Given the description of an element on the screen output the (x, y) to click on. 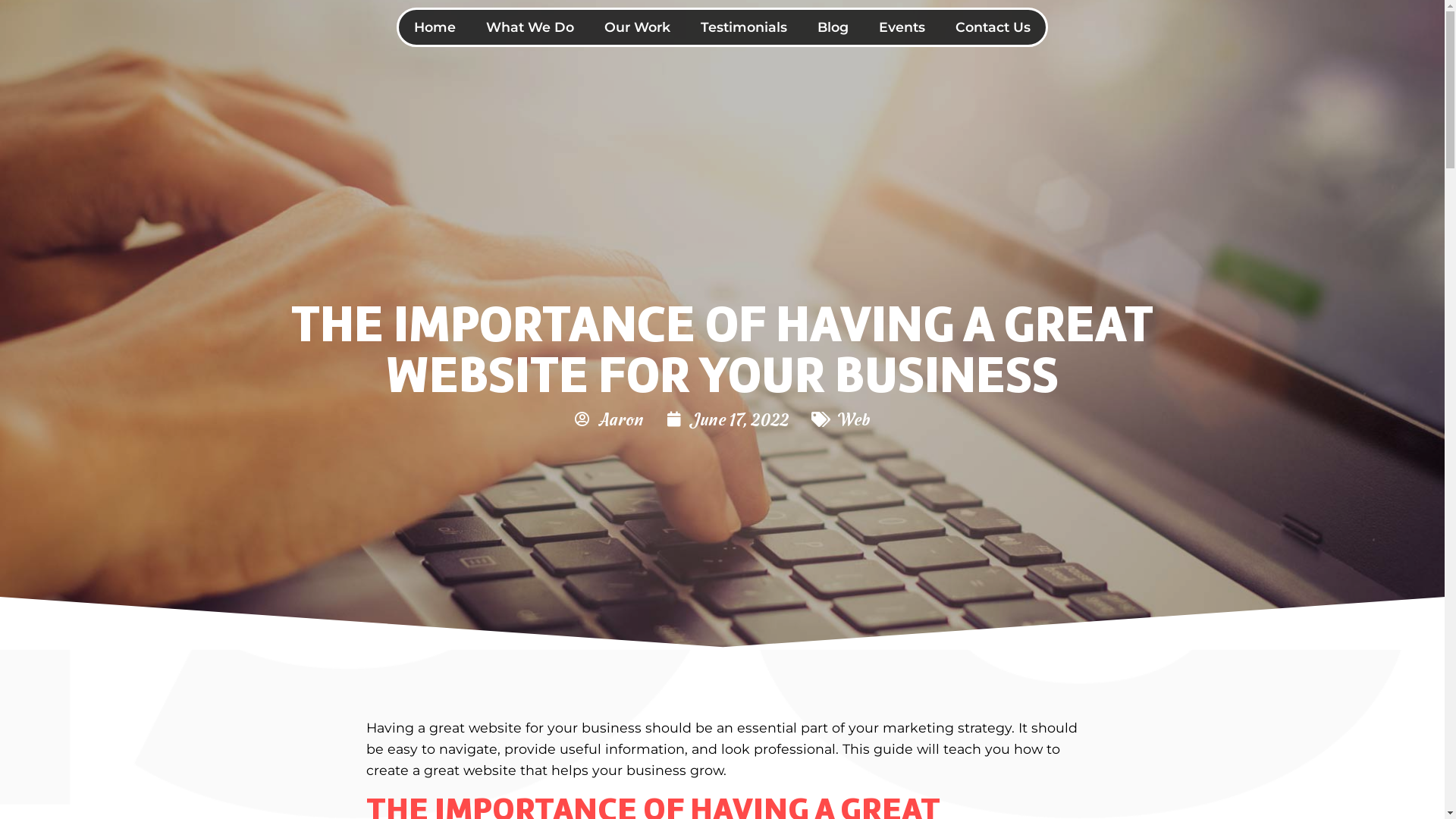
Blog Element type: text (832, 26)
Contact Us Element type: text (992, 26)
June 17, 2022 Element type: text (727, 418)
Testimonials Element type: text (743, 26)
Home Element type: text (434, 26)
What We Do Element type: text (529, 26)
Aaron Element type: text (608, 418)
Events Element type: text (901, 26)
Our Work Element type: text (637, 26)
Web Element type: text (852, 418)
